Given the description of an element on the screen output the (x, y) to click on. 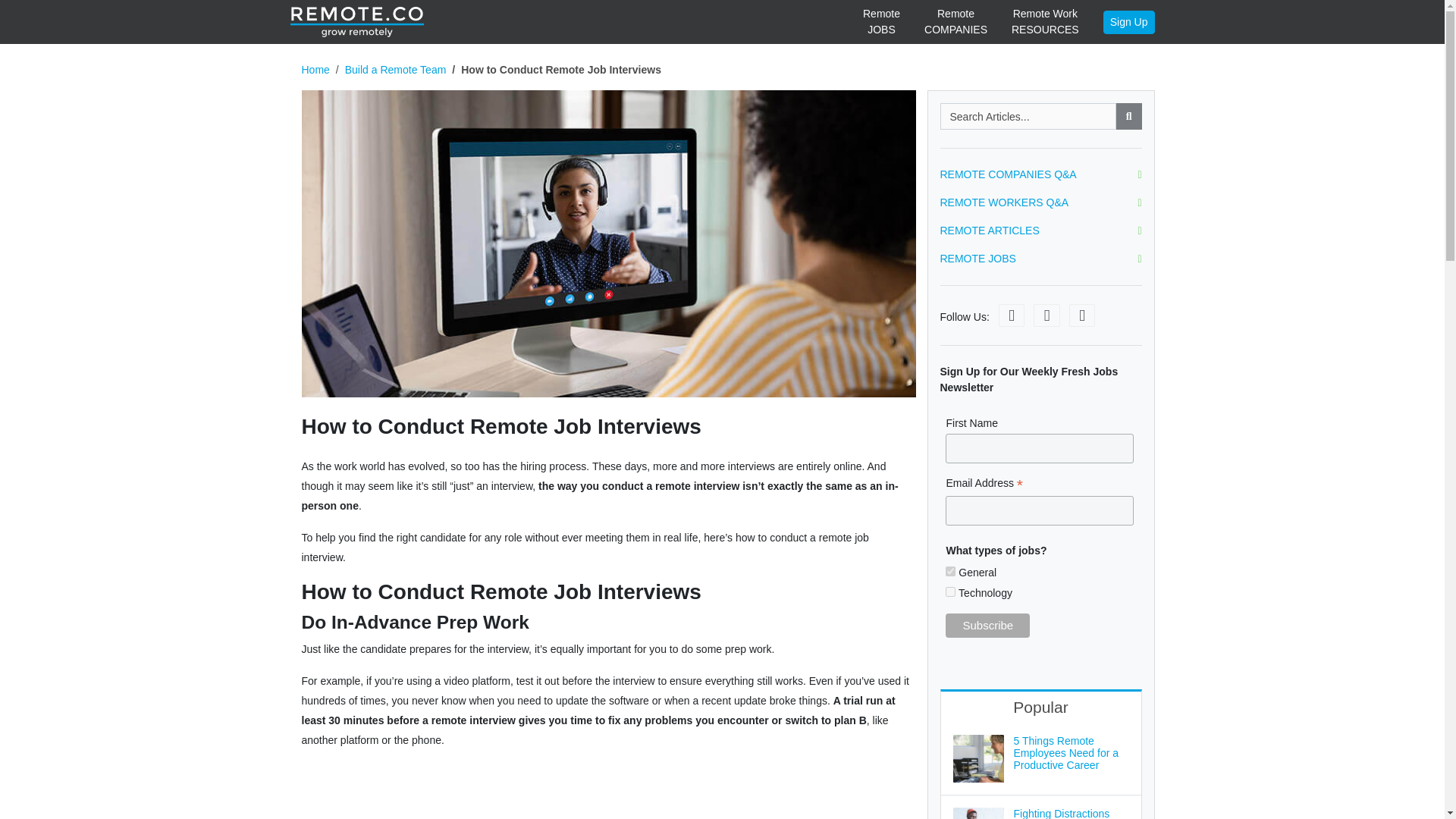
Build a Remote Team (1044, 22)
Subscribe (395, 69)
Sign Up (986, 625)
16 (1128, 22)
32 (949, 571)
Home (955, 22)
